Given the description of an element on the screen output the (x, y) to click on. 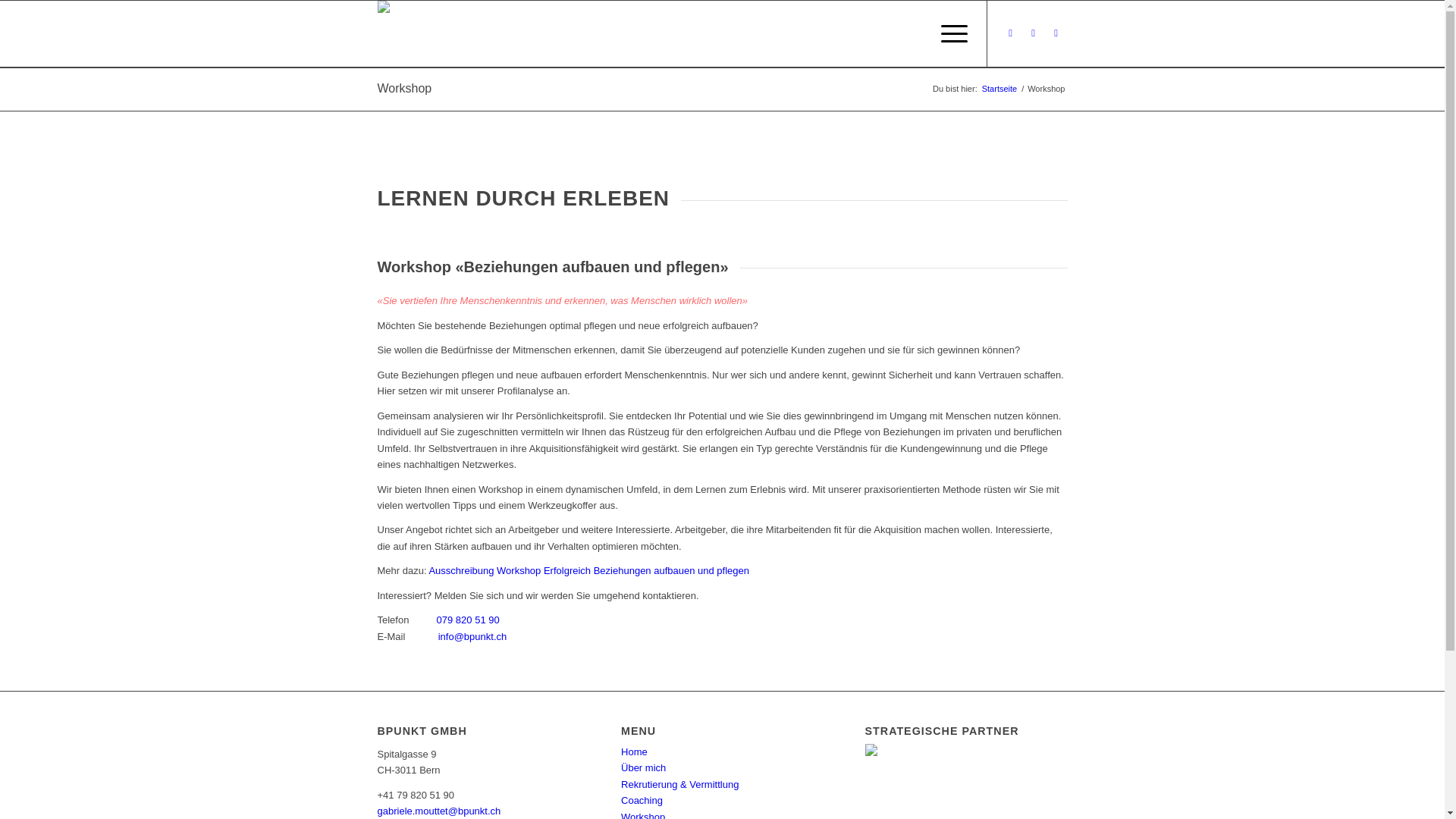
info@bpunkt.ch Element type: text (470, 636)
Workshop Element type: text (404, 87)
Startseite Element type: text (999, 88)
gabriele.mouttet@bpunkt.ch Element type: text (439, 810)
Rekrutierung & Vermittlung Element type: text (679, 784)
LinkedIn Element type: hover (1055, 32)
Xing Element type: hover (1033, 32)
079 820 51 90 Element type: text (467, 619)
Home Element type: text (634, 751)
Coaching Element type: text (641, 800)
Facebook Element type: hover (1010, 32)
